Given the description of an element on the screen output the (x, y) to click on. 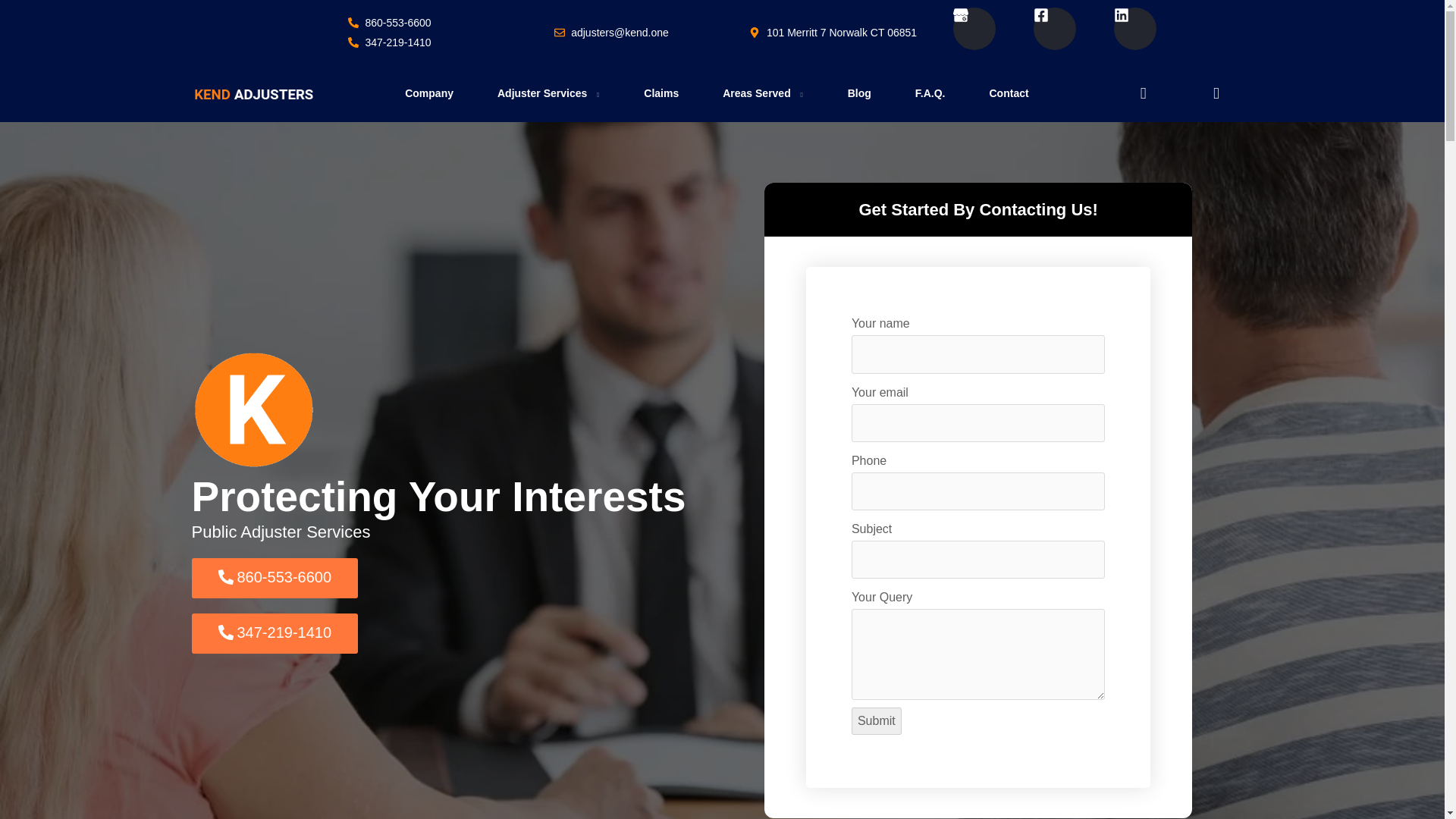
Adjuster Services (548, 93)
Company (428, 93)
101 Merritt 7 Norwalk CT 06851 (832, 32)
Contact (1007, 93)
Submit (876, 720)
860-553-6600 (389, 22)
Areas Served (762, 93)
347-219-1410 (389, 42)
